Given the description of an element on the screen output the (x, y) to click on. 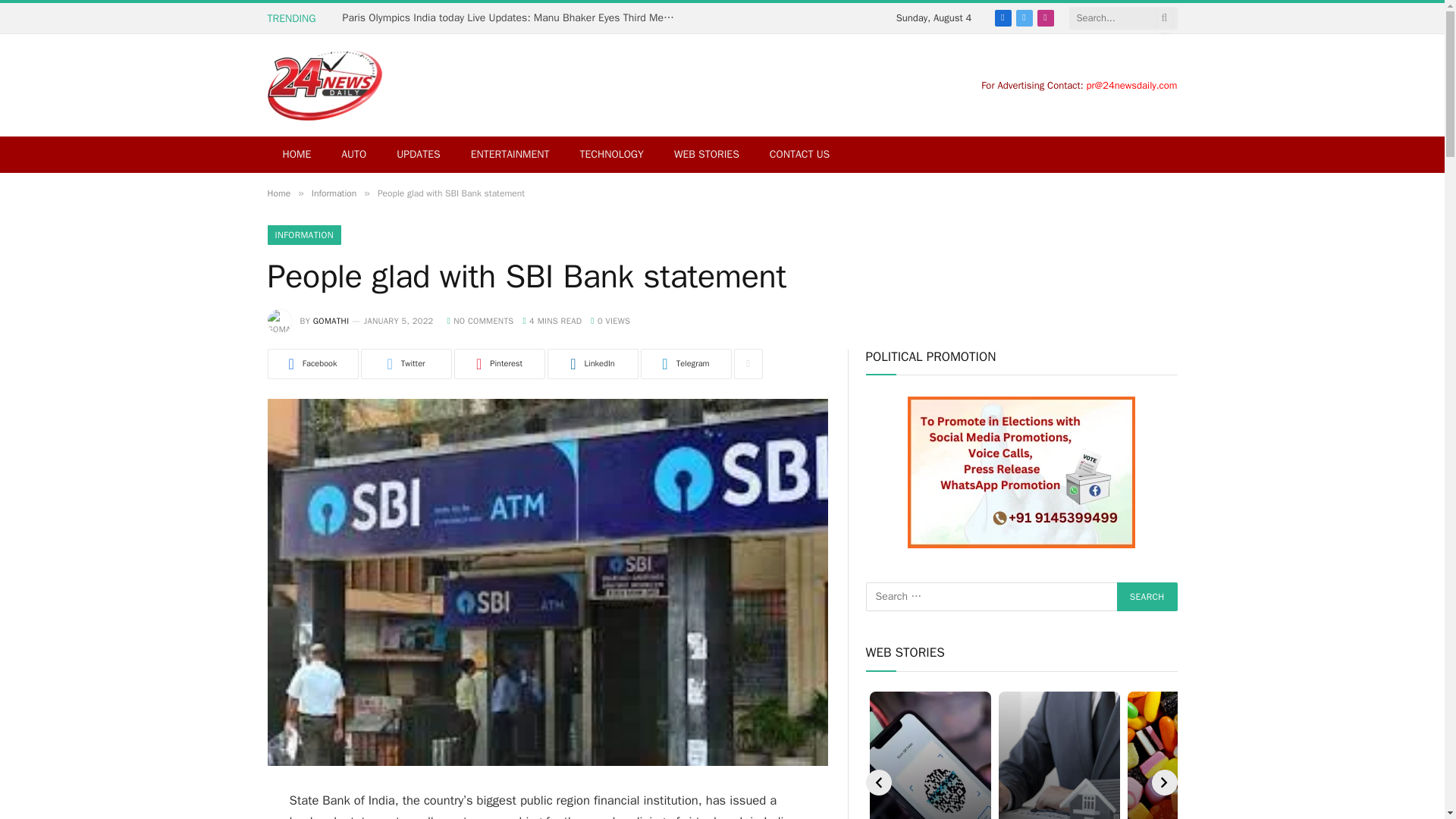
Facebook (1002, 17)
NO COMMENTS (479, 320)
Share on LinkedIn (593, 363)
CONTACT US (799, 154)
UPDATES (417, 154)
Share on Telegram (685, 363)
Show More Social Sharing (747, 363)
Search (1146, 596)
Share on Facebook (312, 363)
Search (1146, 596)
WEB STORIES (706, 154)
INFORMATION (303, 234)
Instagram (1045, 17)
Information (333, 193)
ENTERTAINMENT (509, 154)
